Given the description of an element on the screen output the (x, y) to click on. 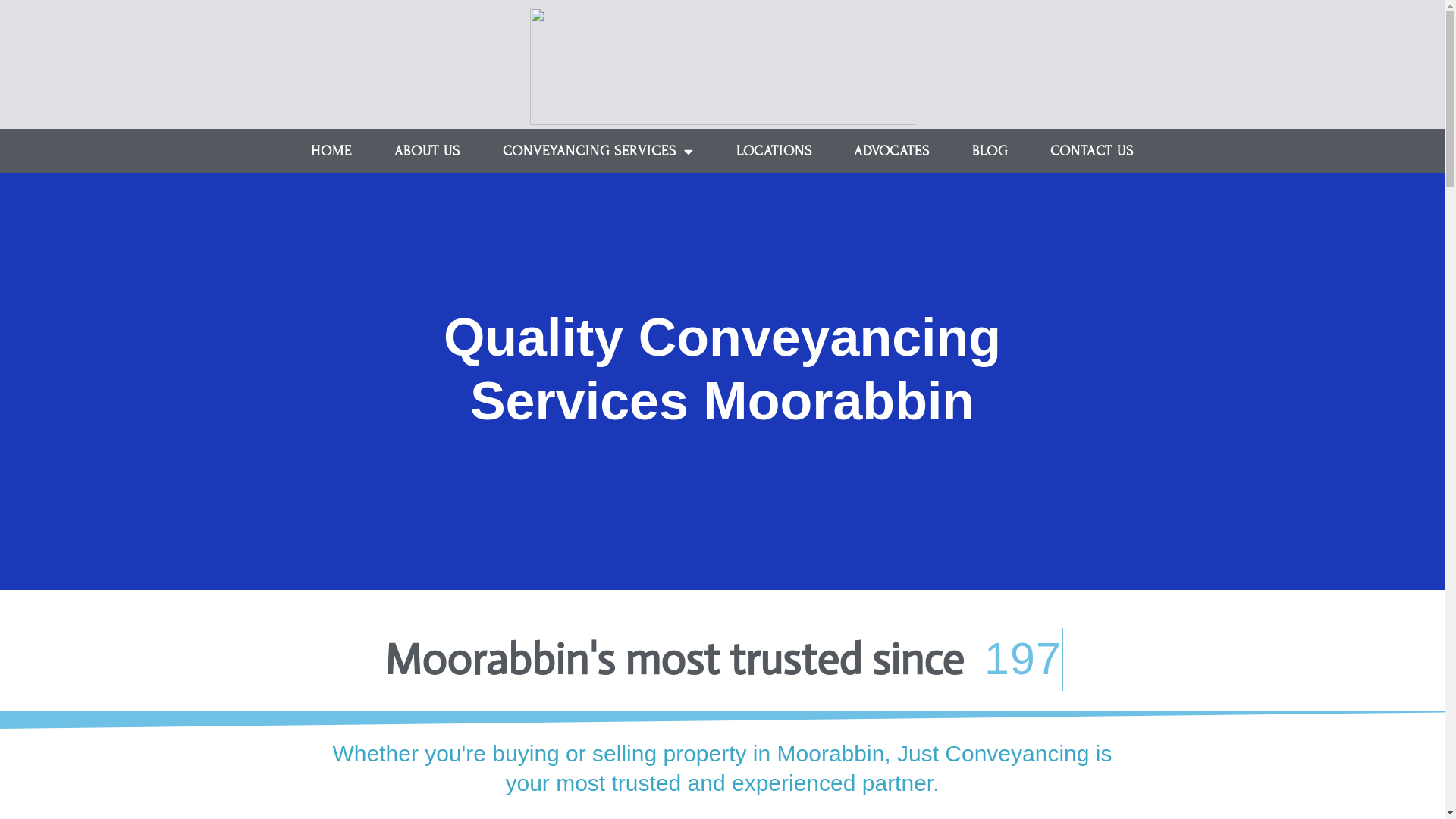
ABOUT US Element type: text (427, 150)
CONTACT US Element type: text (1091, 150)
HOME Element type: text (331, 150)
LOCATIONS Element type: text (774, 150)
CONVEYANCING SERVICES Element type: text (598, 150)
Quality Conveyancing Services Moorabbin Element type: text (722, 368)
BLOG Element type: text (989, 150)
ADVOCATES Element type: text (891, 150)
